Given the description of an element on the screen output the (x, y) to click on. 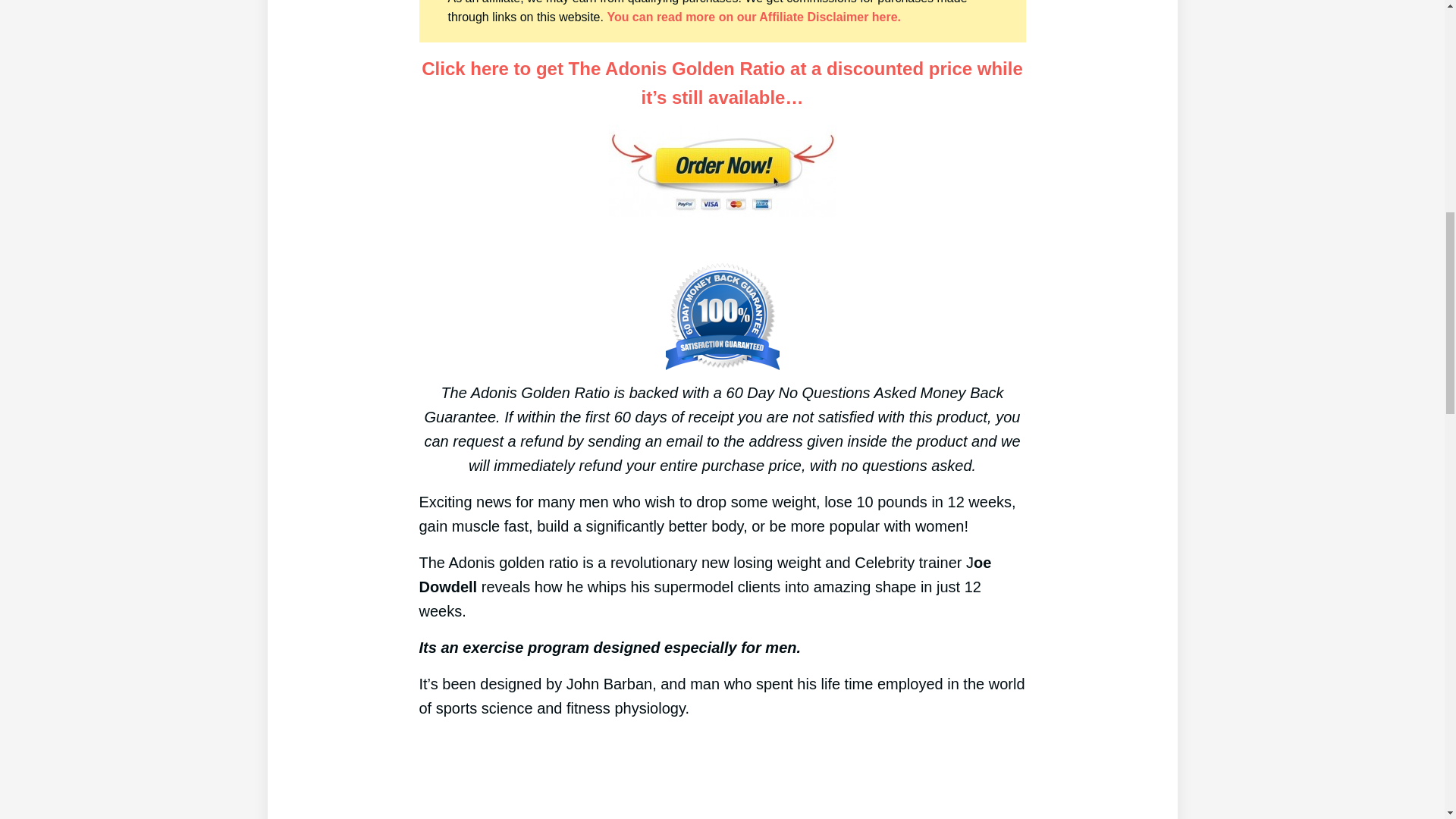
You can read more on our Affiliate Disclaimer here. (754, 16)
